Given the description of an element on the screen output the (x, y) to click on. 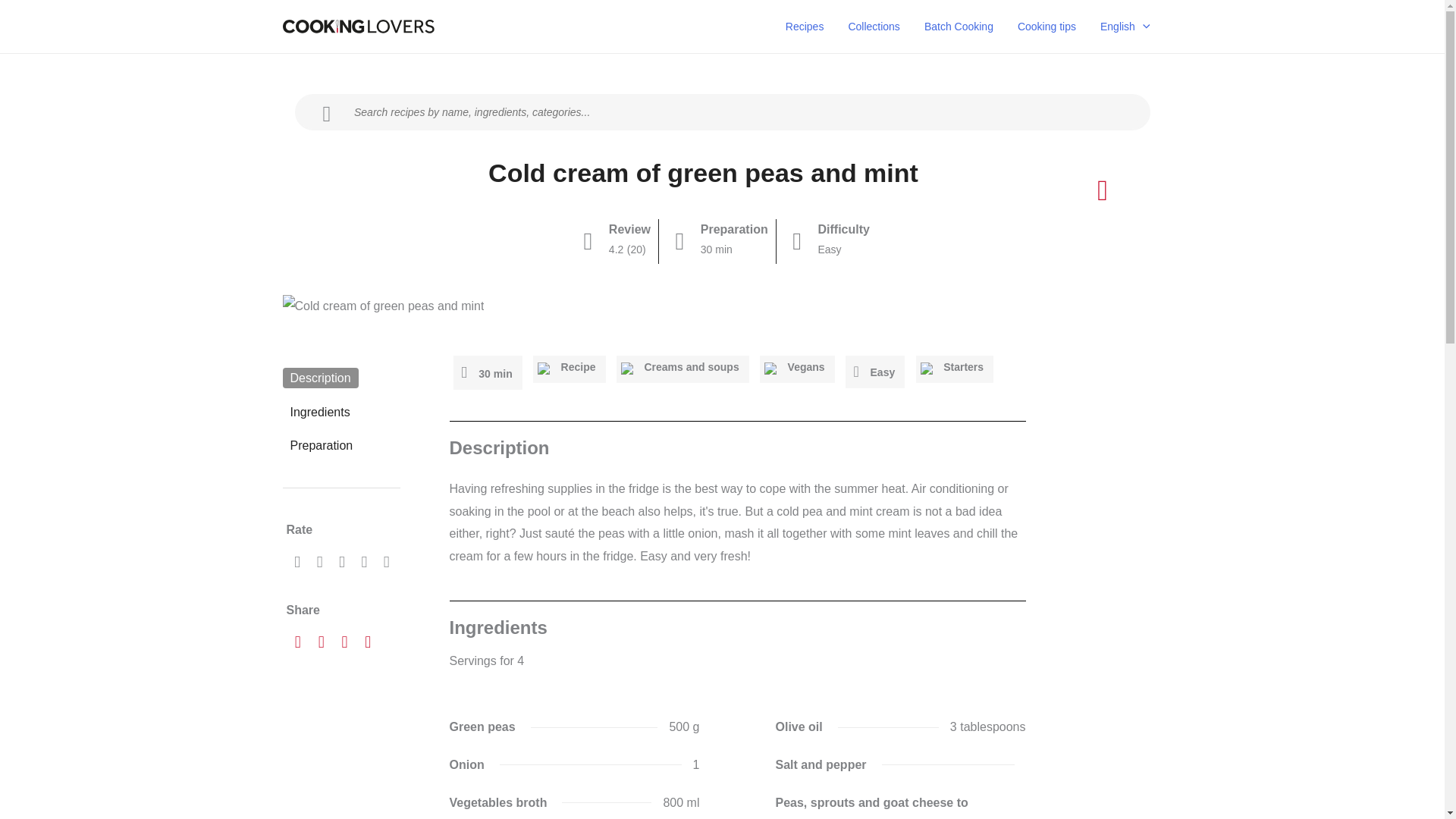
Preparation (320, 444)
Collections (873, 26)
Batch Cooking (959, 26)
Cooking tips (1046, 26)
Recipes (804, 26)
English (1124, 26)
Ingredients (319, 412)
English (1124, 26)
Description (320, 377)
